Given the description of an element on the screen output the (x, y) to click on. 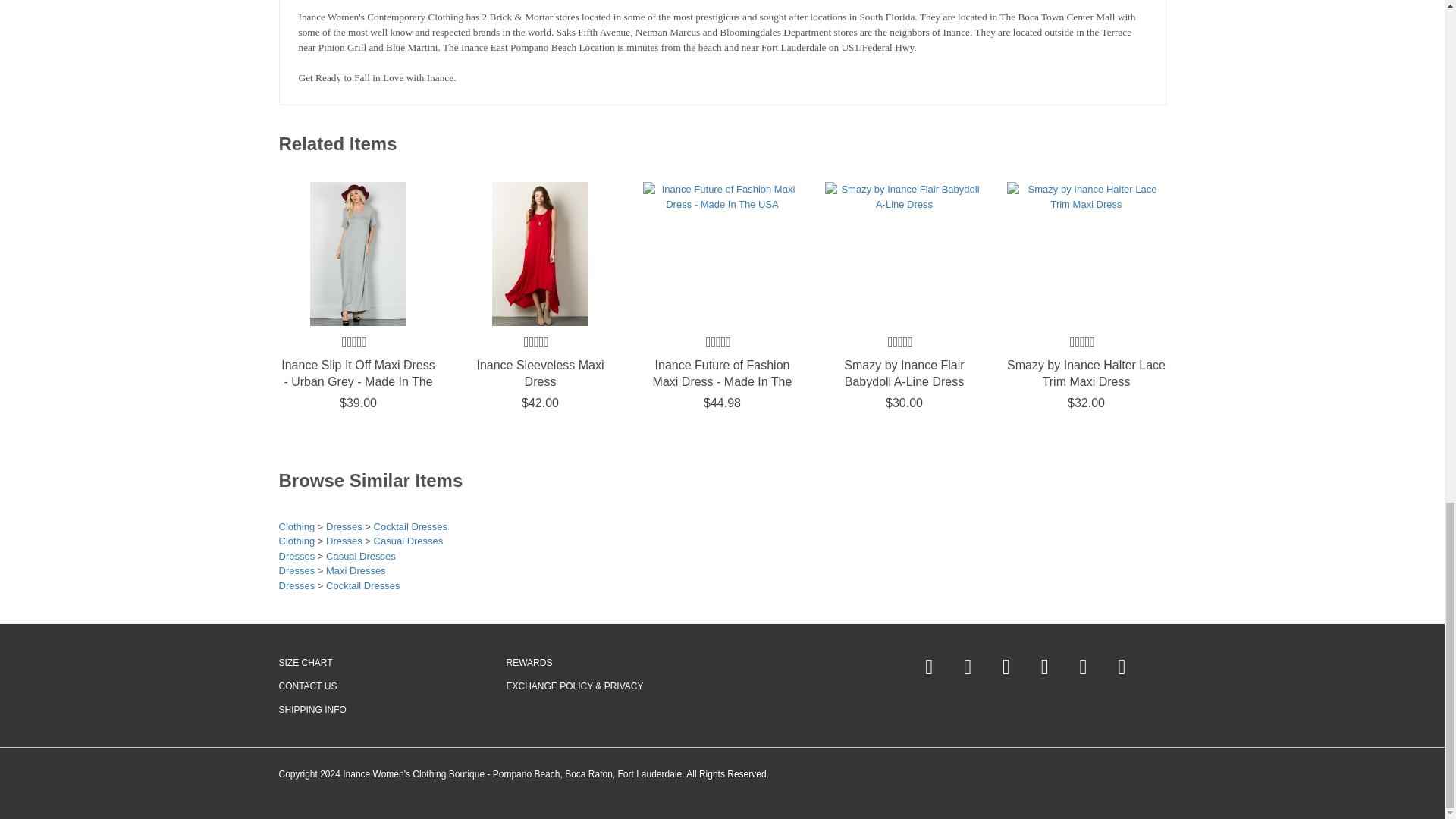
Follow Us on Pinterest (967, 667)
Subscribe to our Channel (1044, 667)
Follow Us on Twitter (1005, 667)
Follow Us on Instagram (1082, 667)
Like Us on Facebook (928, 667)
Follow Us on Tumblr (1121, 667)
